Given the description of an element on the screen output the (x, y) to click on. 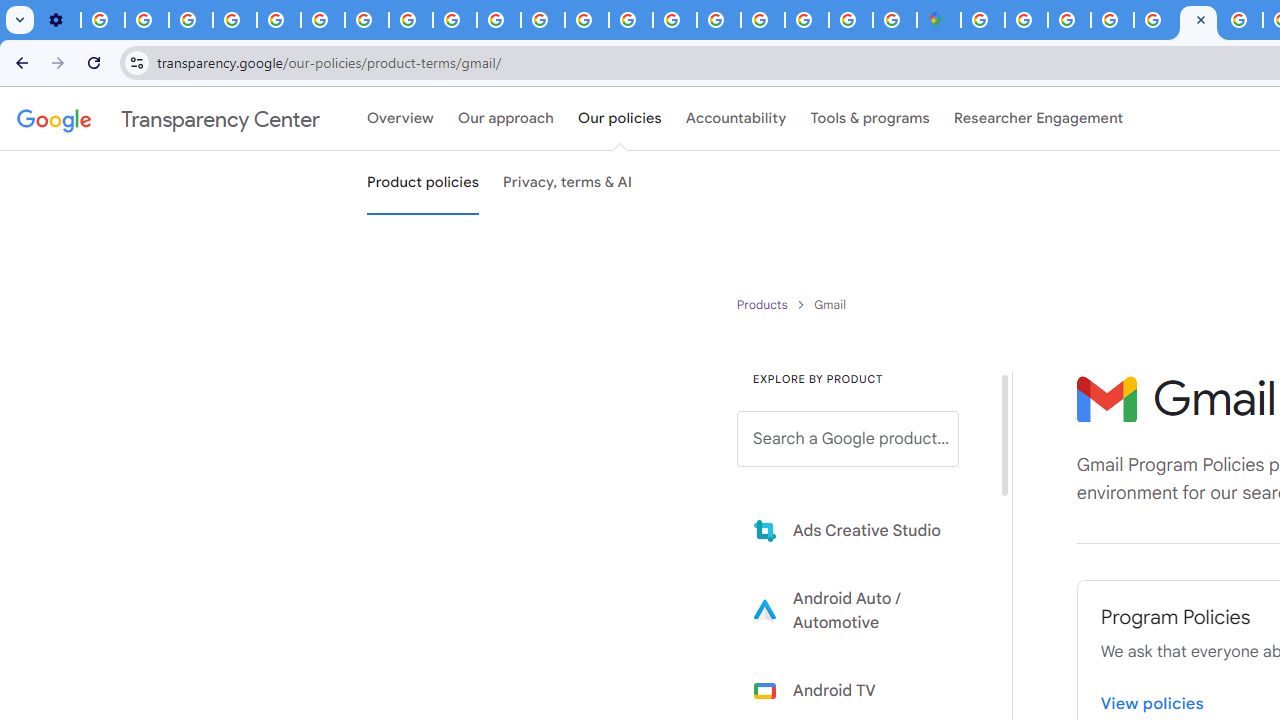
Learn more about Ads Creative Studio (862, 530)
Overview (399, 119)
Product policies (763, 304)
Learn more about Android Auto (862, 610)
Sign in - Google Accounts (762, 20)
Sign in - Google Accounts (1026, 20)
Google Maps (938, 20)
Delete photos & videos - Computer - Google Photos Help (102, 20)
Our policies (619, 119)
